Given the description of an element on the screen output the (x, y) to click on. 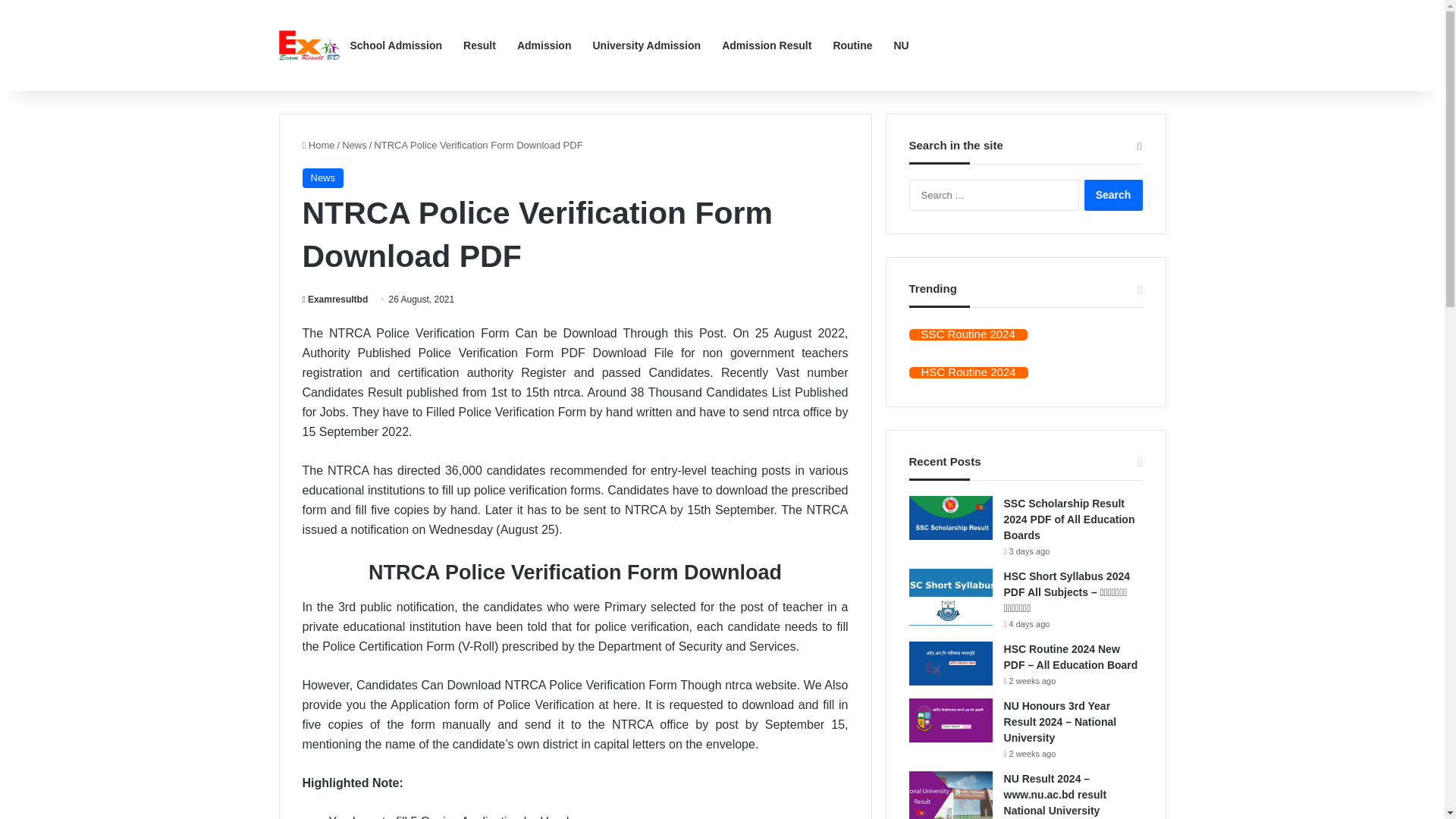
HSC Routine 2024 (967, 372)
SSC Routine 2024 (967, 334)
Examresultbd (334, 299)
School Admission (395, 45)
News (354, 144)
Home (317, 144)
Admission Result (766, 45)
Search (1113, 194)
University Admission (645, 45)
Search (1113, 194)
